Given the description of an element on the screen output the (x, y) to click on. 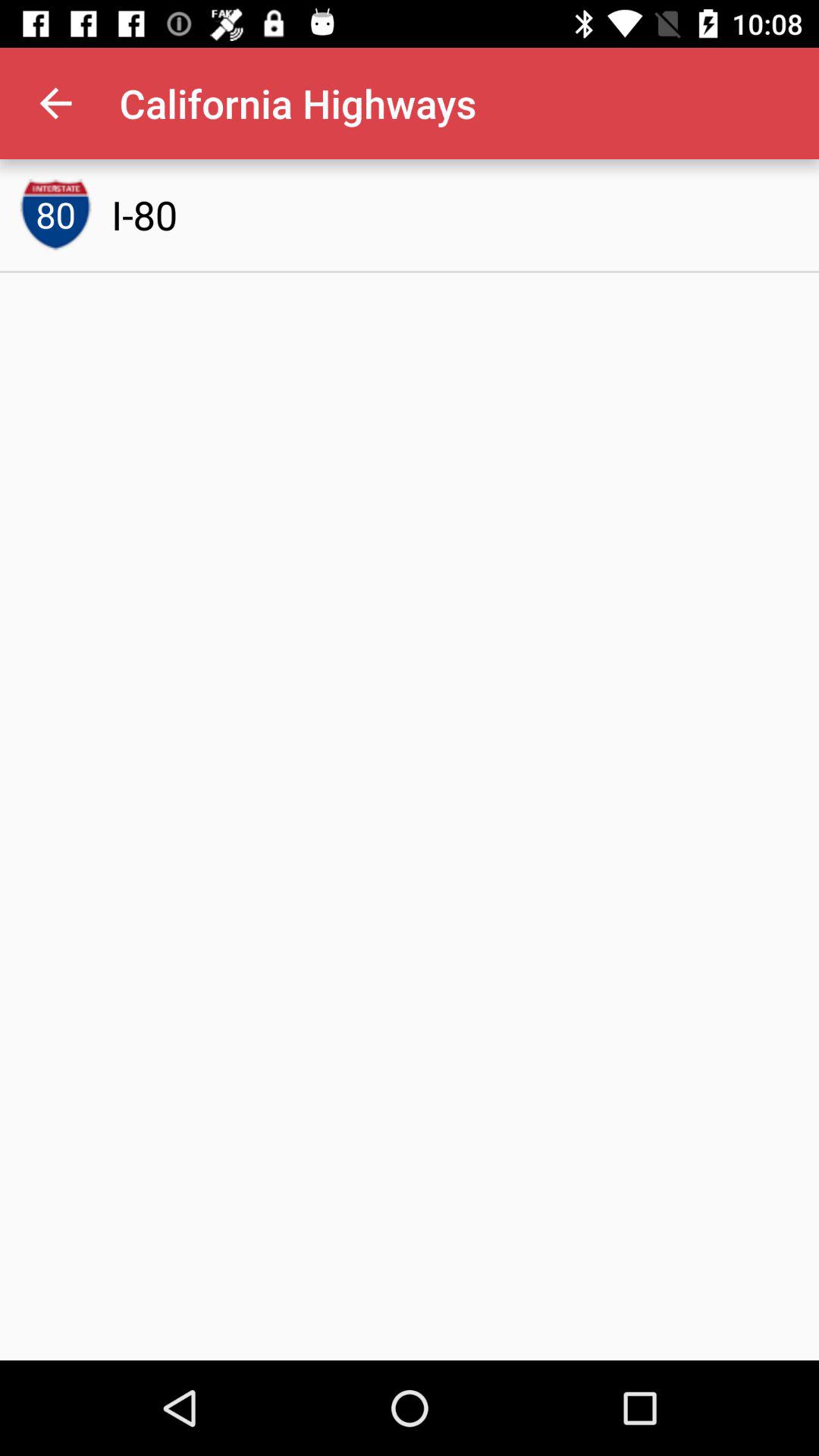
select the icon next to the i-80 item (55, 214)
